Given the description of an element on the screen output the (x, y) to click on. 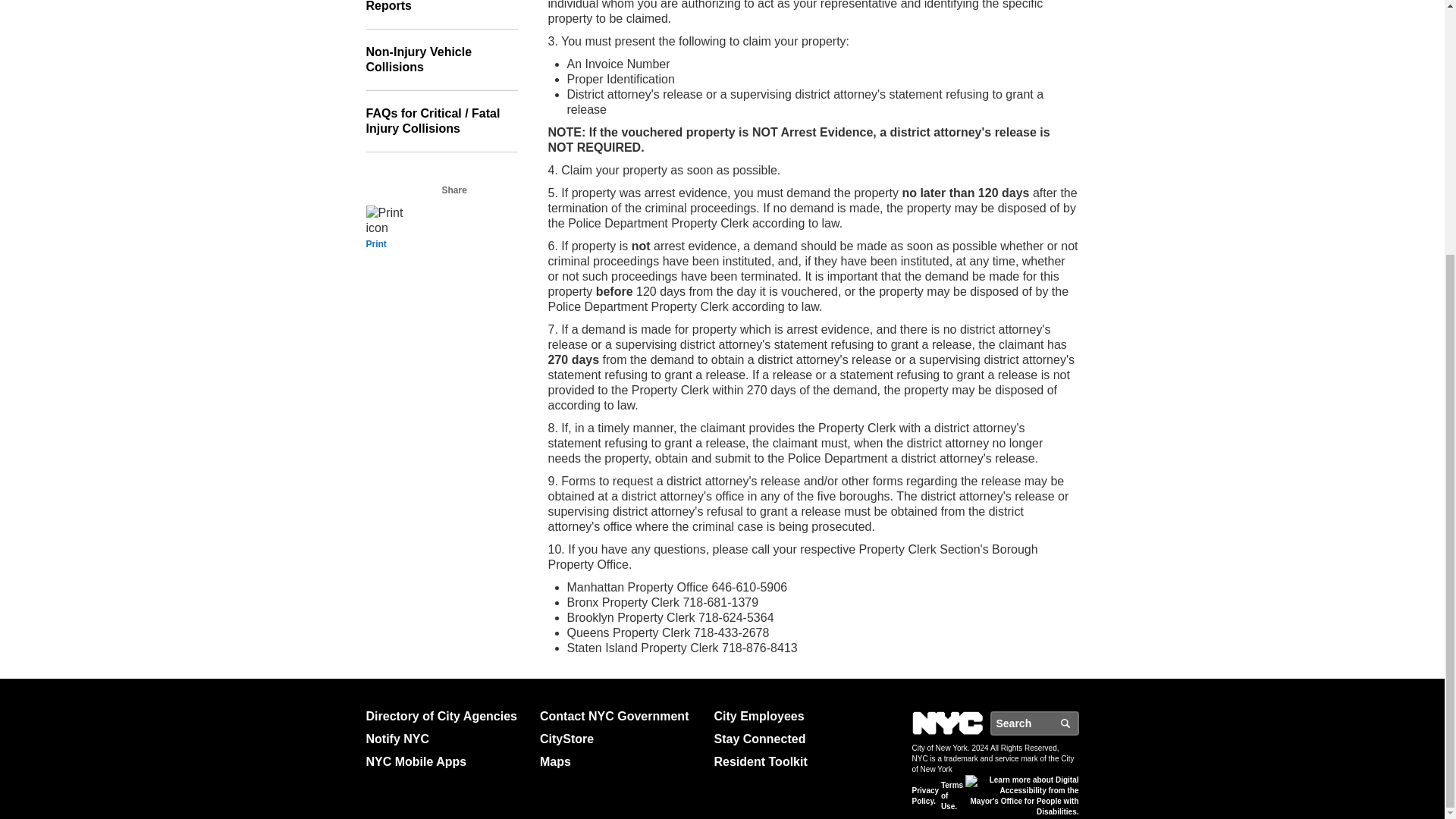
City Employees (795, 716)
Contact NYC Government (620, 716)
Stay Connected (795, 739)
Non-Injury Vehicle Collisions (440, 59)
NYC Mobile Apps (446, 762)
Directory of City Agencies (446, 716)
Motor Vehicle Collisions Reports (440, 14)
CityStore (620, 739)
Privacy Ploicy  (925, 795)
Notify NYC (446, 739)
